Given the description of an element on the screen output the (x, y) to click on. 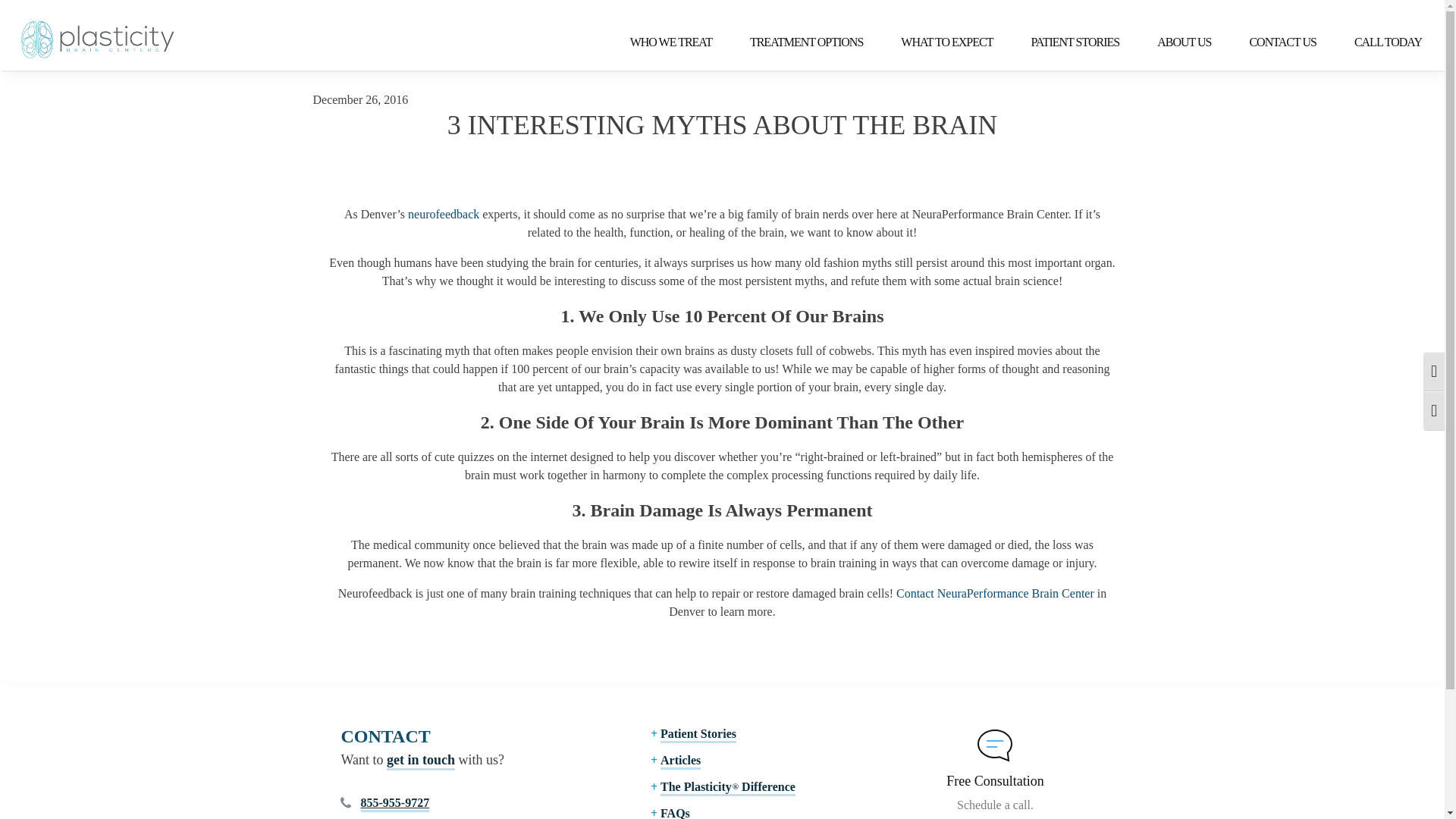
f-comment (994, 745)
PATIENT STORIES (1063, 42)
WHO WE TREAT (659, 42)
TREATMENT OPTIONS (794, 42)
WHAT TO EXPECT (934, 42)
